Given the description of an element on the screen output the (x, y) to click on. 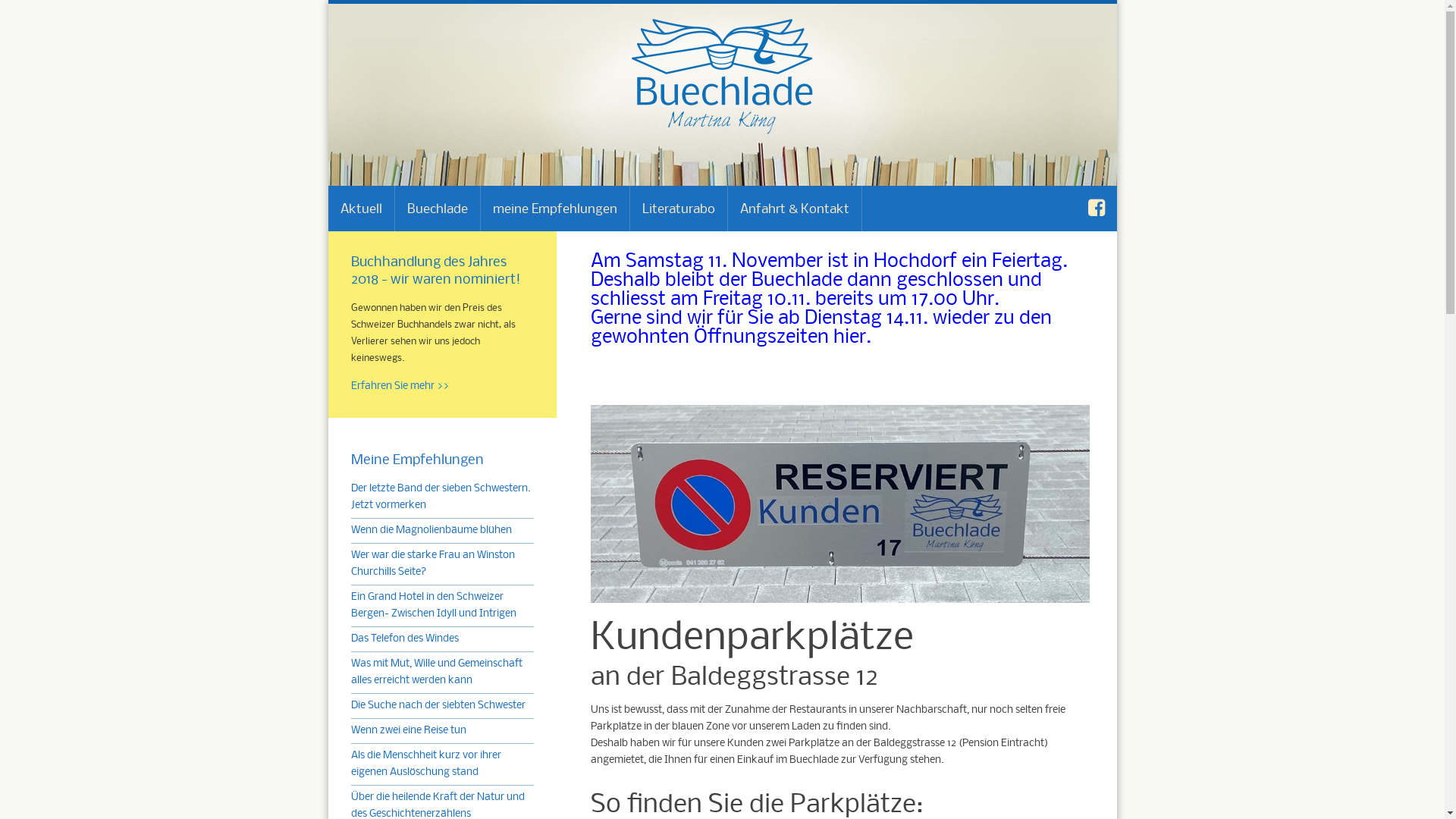
Anfahrt & Kontakt Element type: text (795, 208)
Buechlade Element type: text (437, 208)
meine Empfehlungen Element type: text (555, 208)
Das Telefon des Windes Element type: text (404, 638)
Aktuell Element type: text (360, 208)
Wenn zwei eine Reise tun Element type: text (407, 730)
Der letzte Band der sieben Schwestern. Jetzt vormerken Element type: text (440, 497)
Die Suche nach der siebten Schwester Element type: text (437, 705)
Literaturabo Element type: text (678, 208)
Wer war die starke Frau an Winston Churchills Seite? Element type: text (432, 563)
Erfahren Sie mehr >> Element type: text (399, 386)
